Given the description of an element on the screen output the (x, y) to click on. 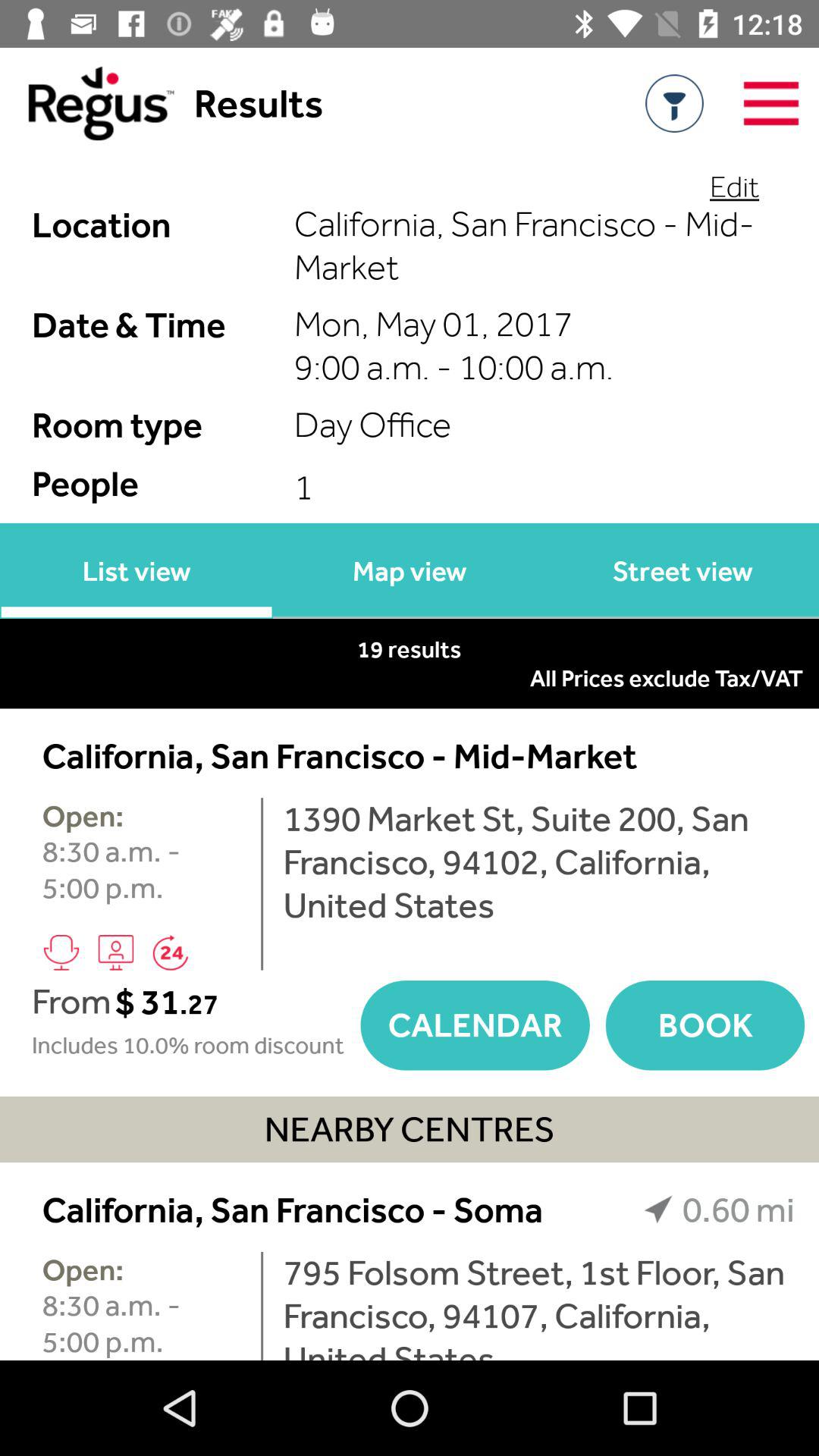
tap icon above includes 10 0 item (235, 1001)
